Given the description of an element on the screen output the (x, y) to click on. 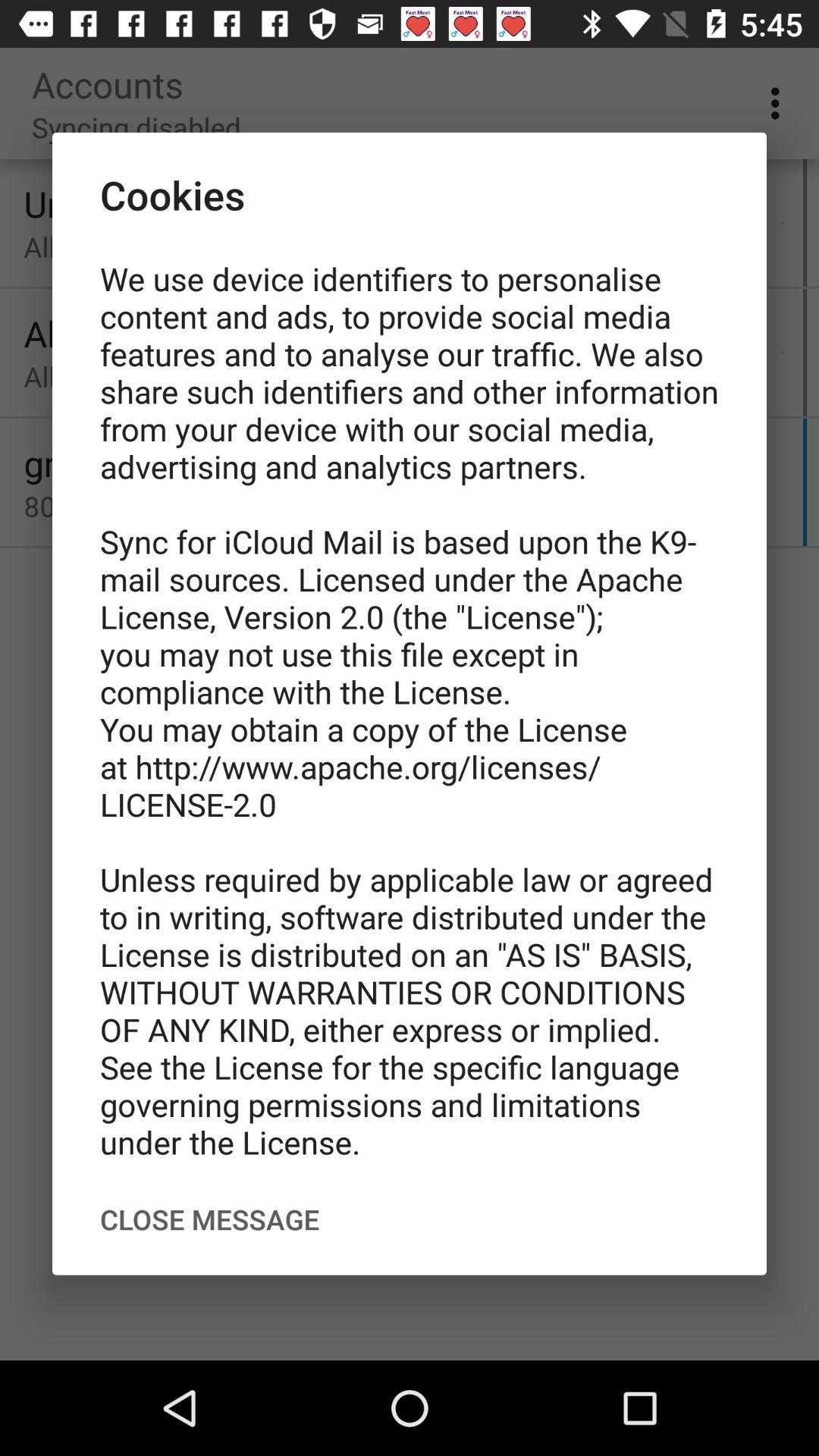
launch close message icon (209, 1219)
